Given the description of an element on the screen output the (x, y) to click on. 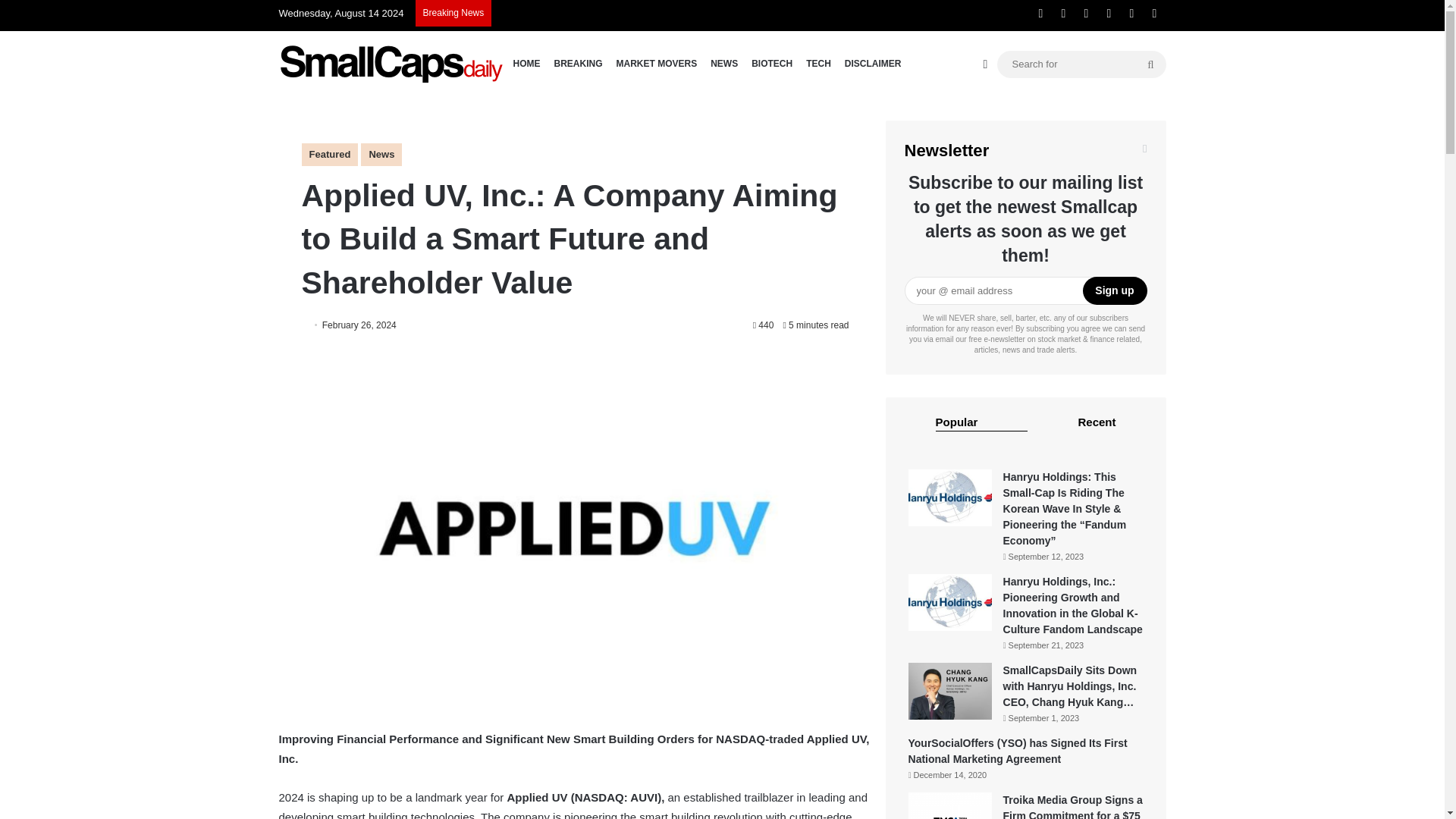
Sign up (1115, 290)
DISCLAIMER (873, 63)
Featured (329, 154)
MARKET MOVERS (657, 63)
BREAKING (578, 63)
News (381, 154)
Search for (1080, 63)
SmallCapsDaily (392, 63)
Search for (1150, 62)
